Given the description of an element on the screen output the (x, y) to click on. 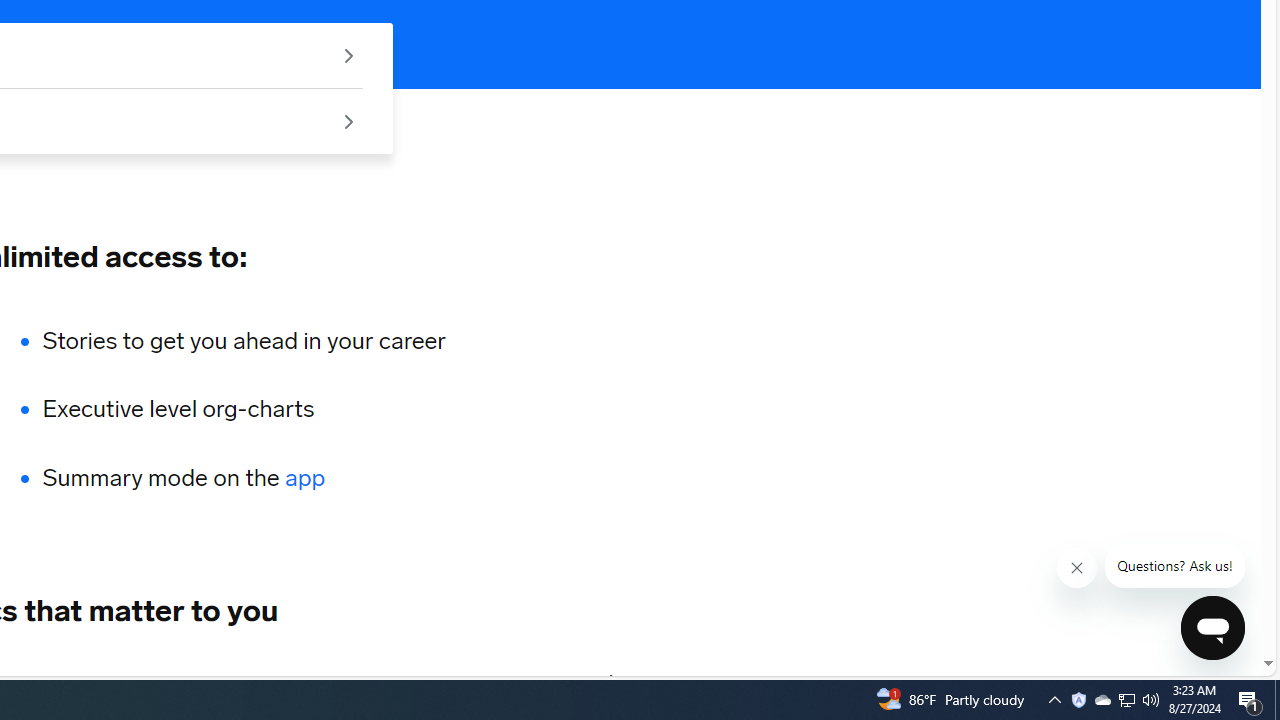
Close message from company (1077, 567)
app (305, 477)
HEALTHCARE (130, 681)
See group offers (348, 120)
Class: sc-1uf0igr-1 fjHZYk (1076, 568)
Class: sc-1k07fow-1 cbnSms (1212, 627)
EXECUTIVE LIFESTYLE (320, 681)
Summary mode on the app (243, 478)
MEDIA (612, 681)
Open messaging window (1213, 628)
STRATEGY (498, 681)
Stories to get you ahead in your career (243, 340)
